Given the description of an element on the screen output the (x, y) to click on. 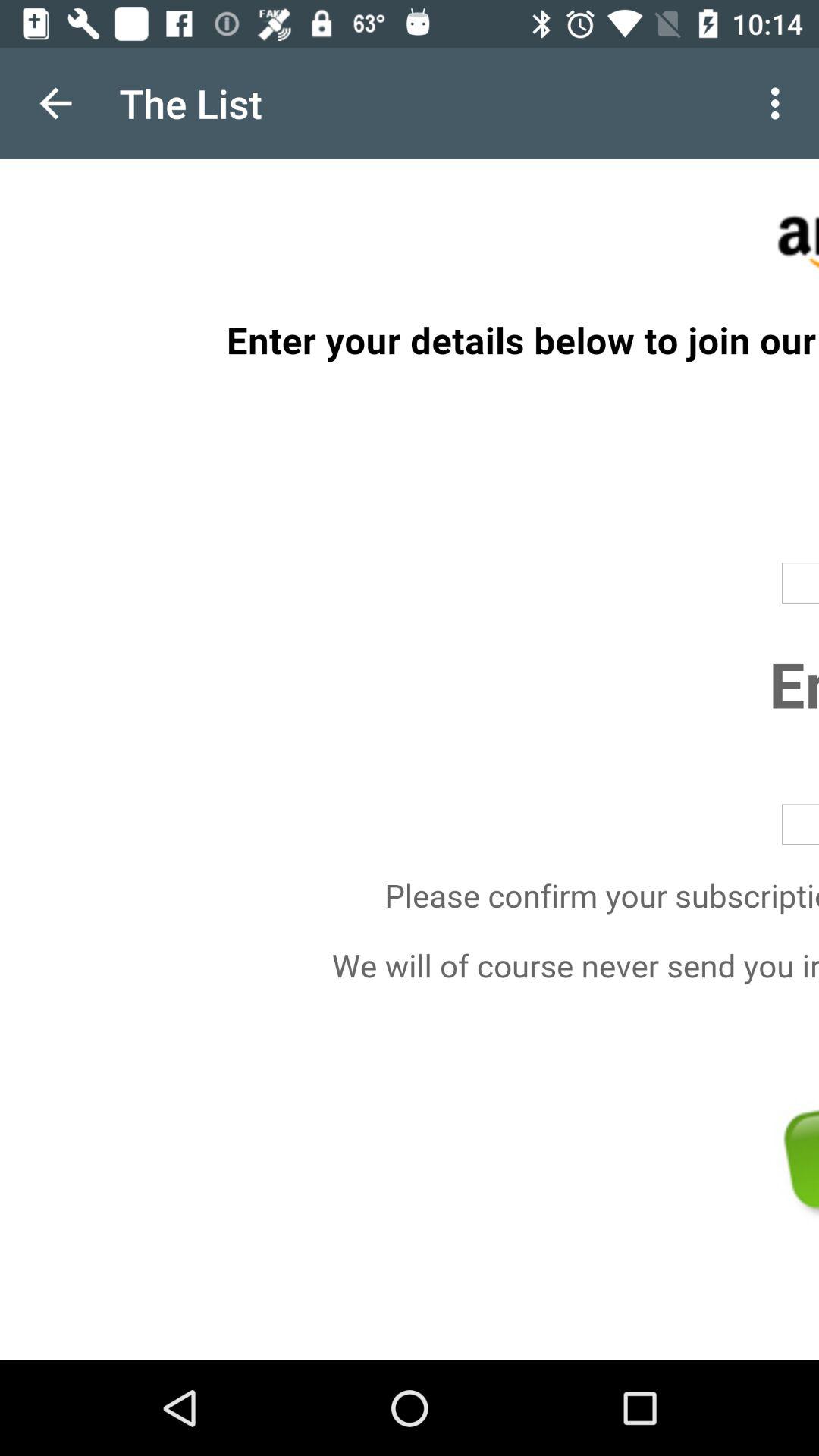
press the item next to the the list icon (55, 103)
